Given the description of an element on the screen output the (x, y) to click on. 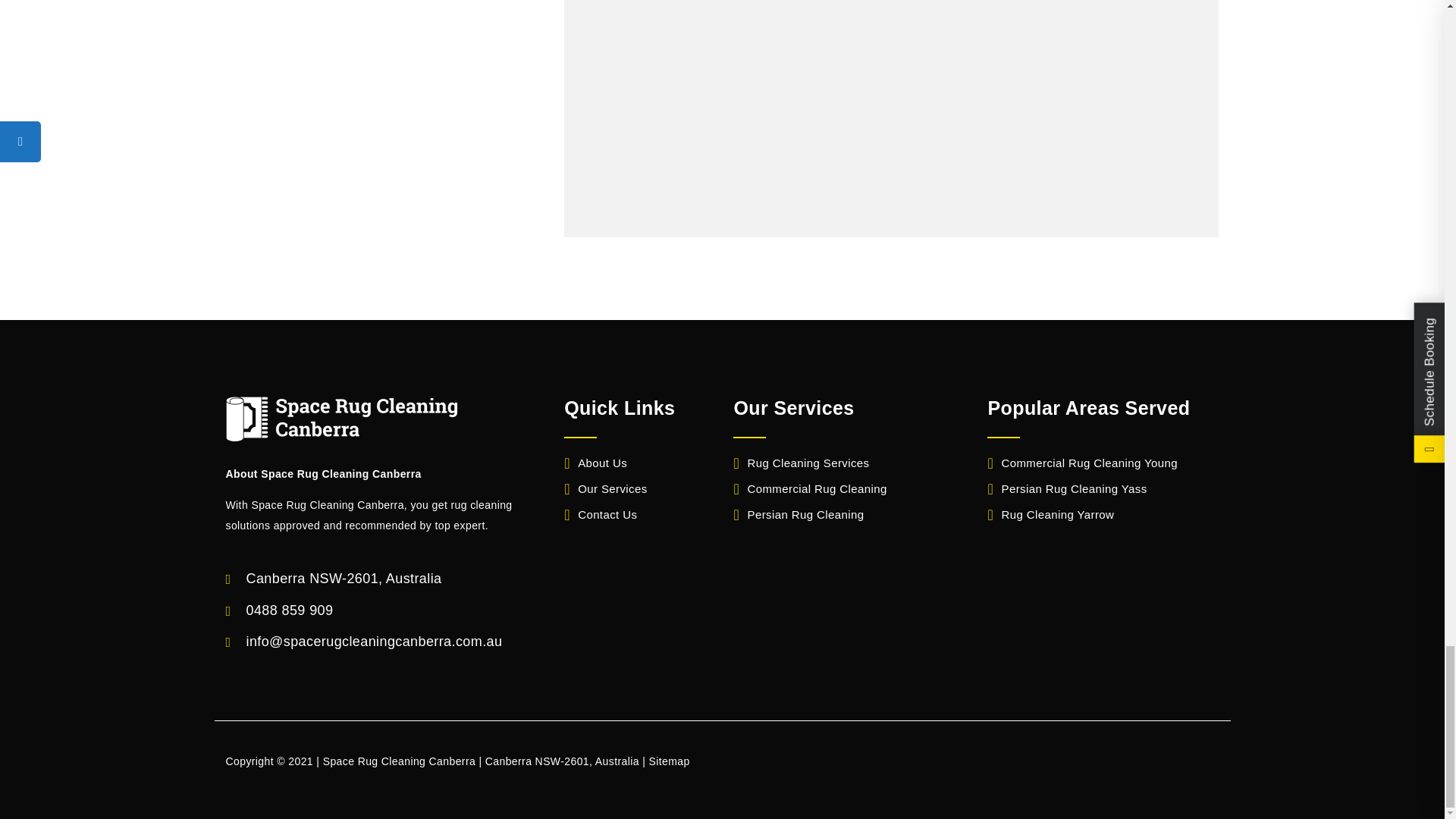
0488 859 909 (289, 610)
Contact Us (600, 513)
Our Services (605, 488)
About Us (595, 462)
Rug Cleaning Services (801, 462)
